Given the description of an element on the screen output the (x, y) to click on. 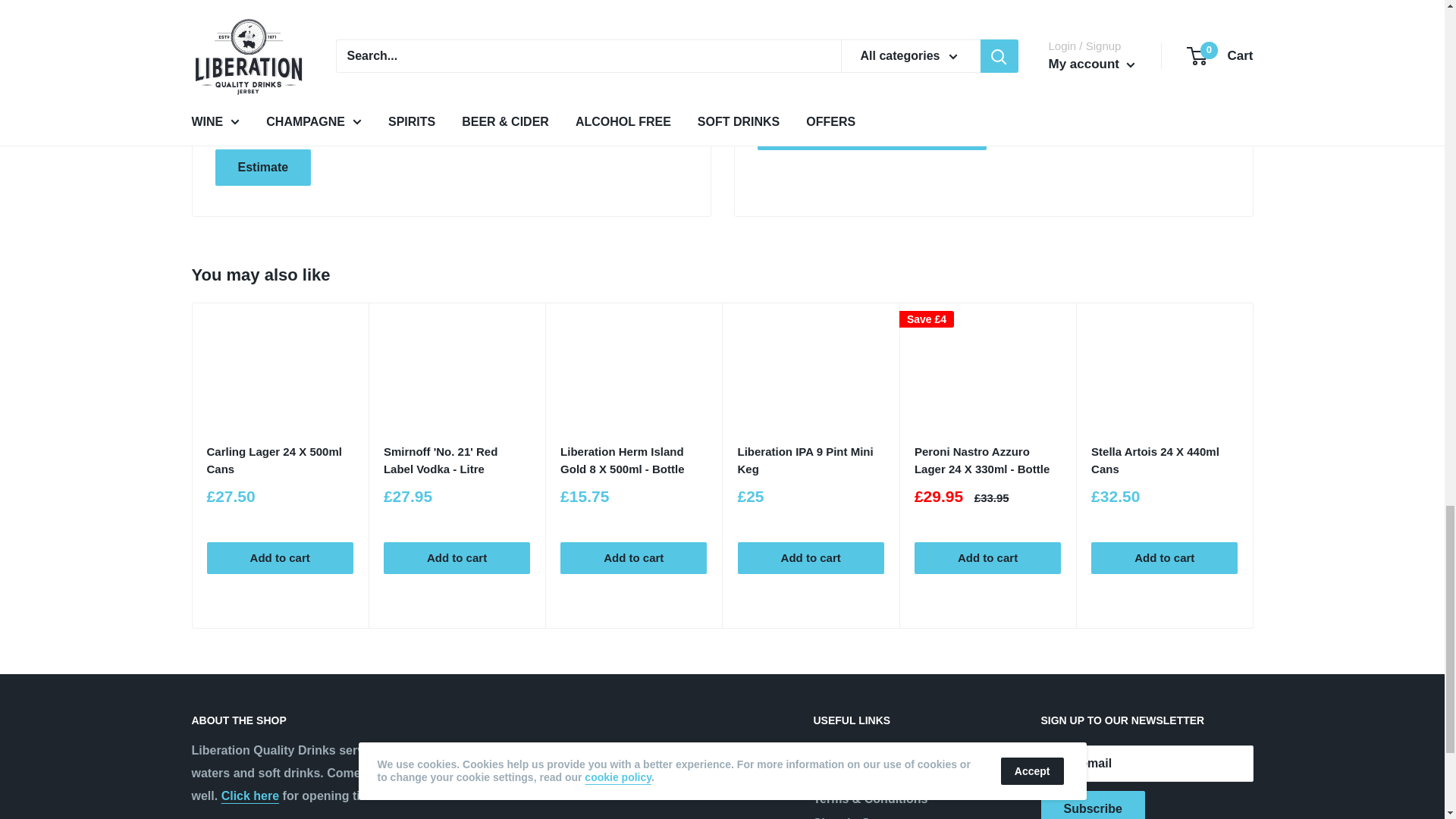
Contact Us (250, 795)
